Given the description of an element on the screen output the (x, y) to click on. 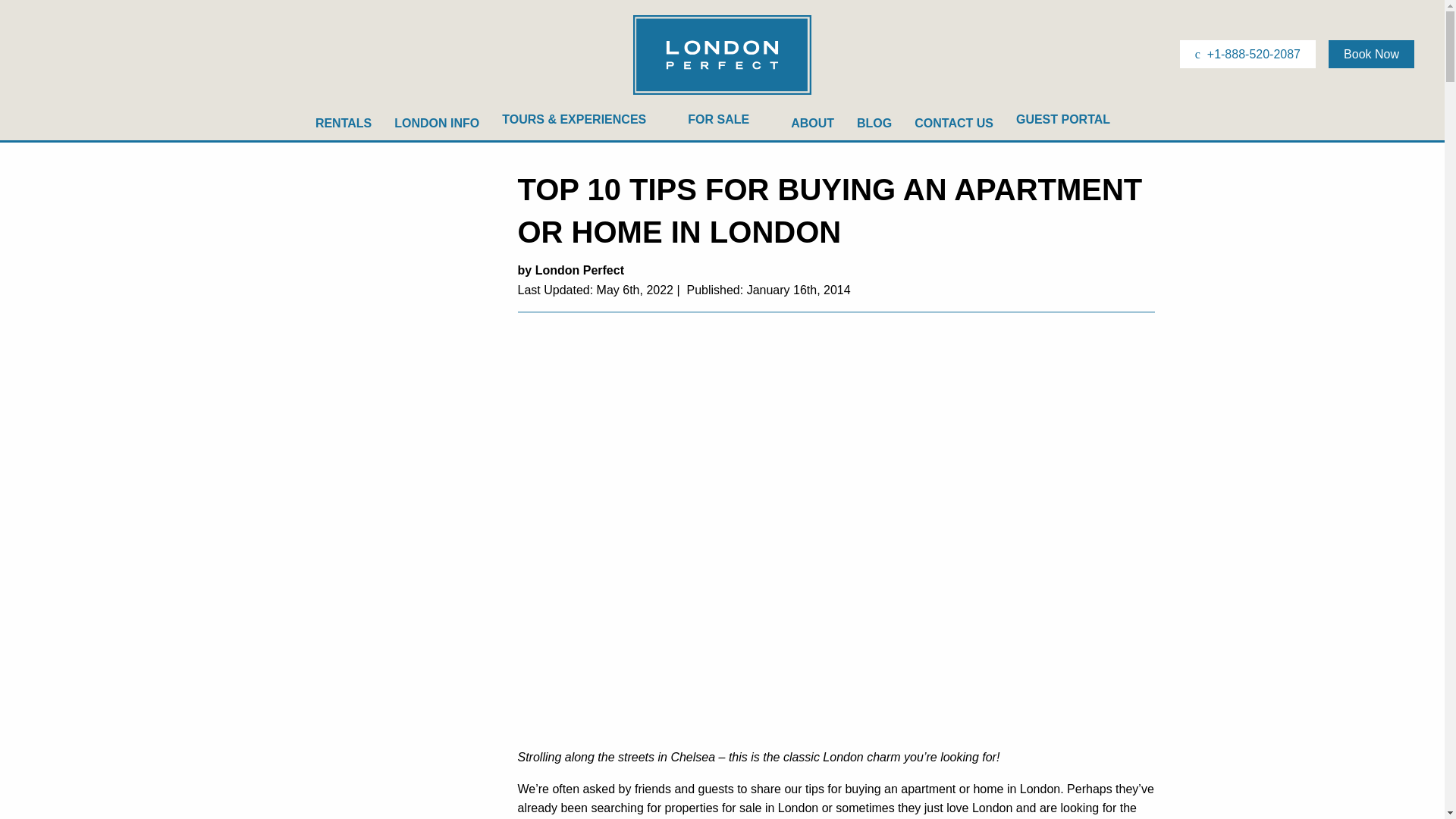
London Perfect - London Vacation Rentals (721, 92)
Book Now (1370, 53)
RENTALS (343, 122)
FOR SALE (727, 123)
LONDON INFO (436, 122)
Posts by London Perfect (579, 269)
London Guide (436, 122)
ABOUT (811, 122)
